Given the description of an element on the screen output the (x, y) to click on. 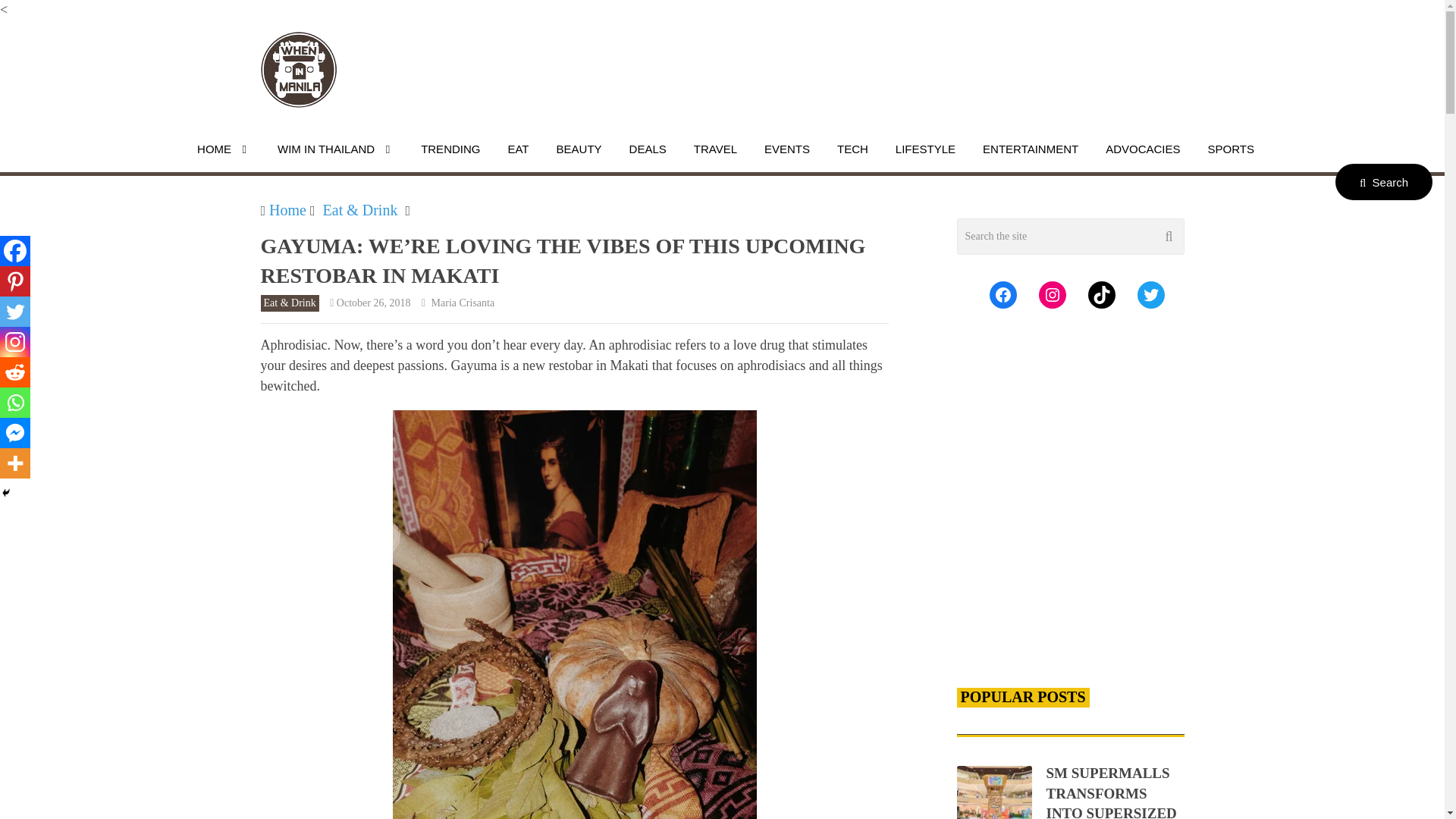
TRAVEL (715, 148)
LIFESTYLE (924, 148)
EAT (518, 148)
TRENDING (450, 148)
Twitter (15, 311)
EVENTS (786, 148)
ADVOCACIES (1142, 148)
Facebook (15, 250)
Pinterest (15, 281)
TECH (852, 148)
DEALS (647, 148)
  Search (1383, 181)
HOME (224, 148)
SPORTS (1230, 148)
Posts by Maria Crisanta (462, 302)
